Given the description of an element on the screen output the (x, y) to click on. 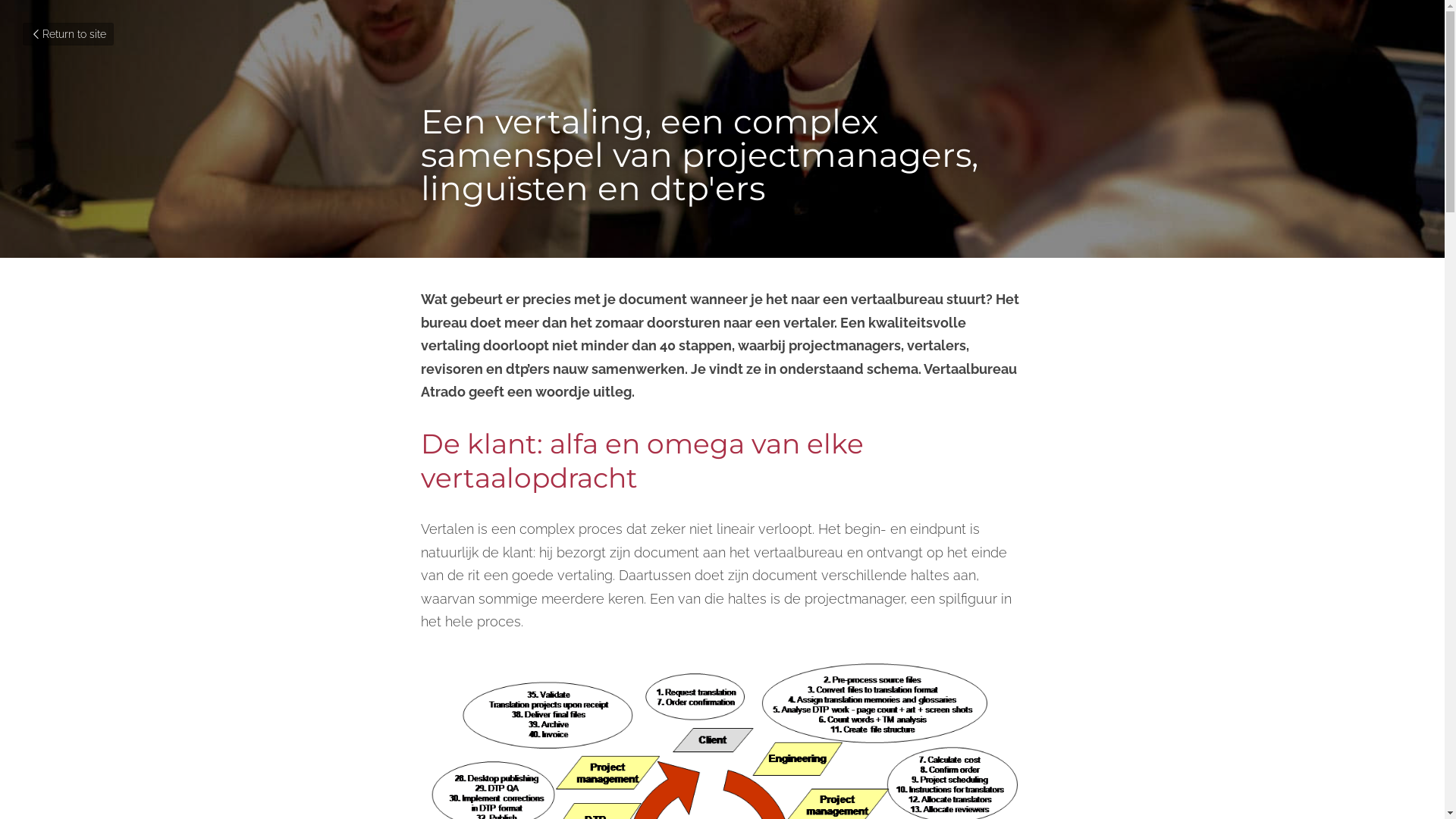
Return to site Element type: text (67, 33)
